Given the description of an element on the screen output the (x, y) to click on. 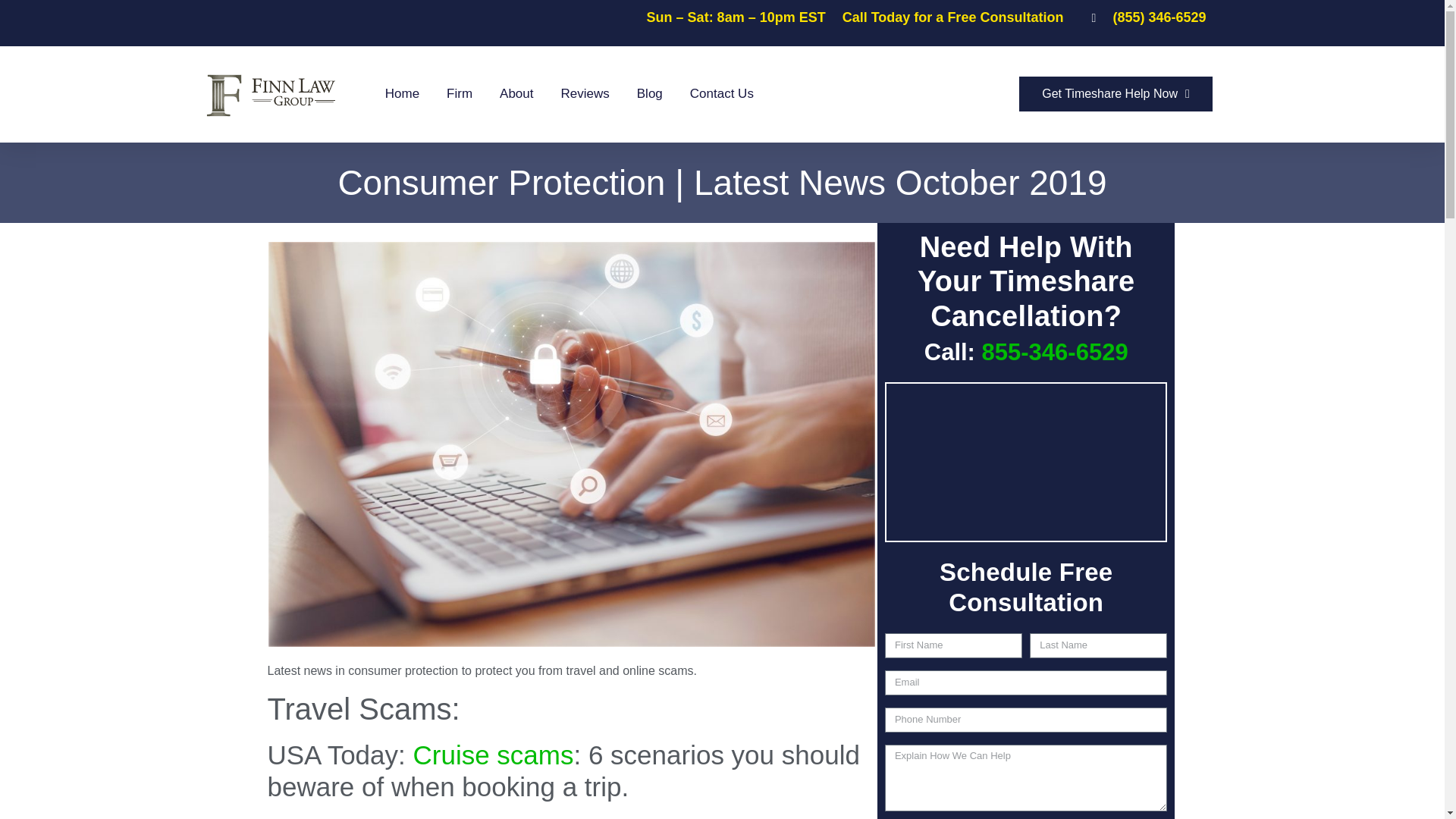
Reviews (585, 93)
Call Today for a Free Consultation (953, 17)
Contact Us (722, 93)
Home (402, 93)
About (515, 93)
